Given the description of an element on the screen output the (x, y) to click on. 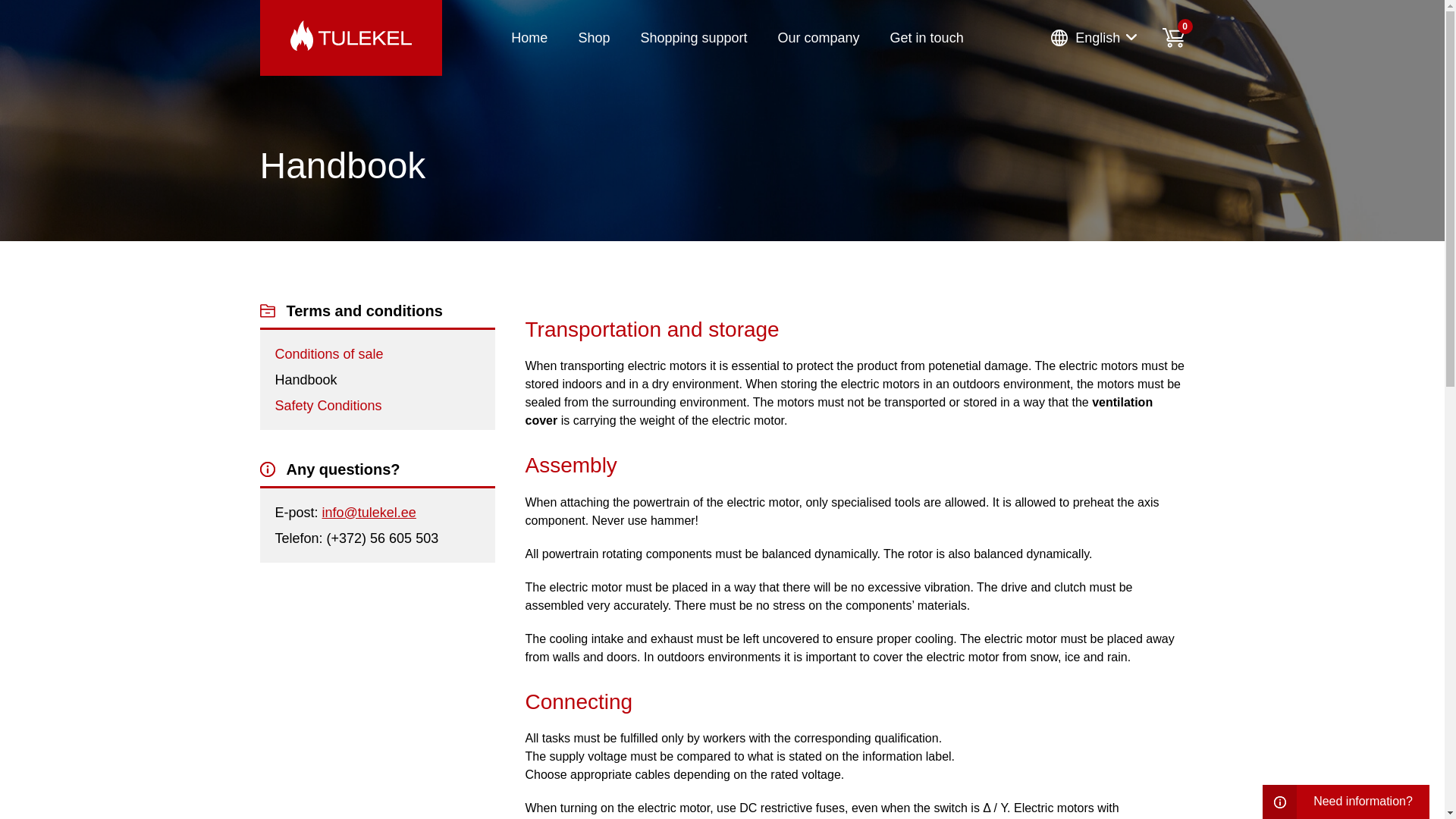
Get in touch (926, 37)
Safety Conditions (328, 405)
Need information? (1345, 801)
Shop (594, 37)
0 (1173, 37)
Home (529, 37)
arrowsArtboard 79 (1131, 36)
Shopping support (693, 37)
View shopping cart (1173, 37)
Handbook (305, 379)
